Given the description of an element on the screen output the (x, y) to click on. 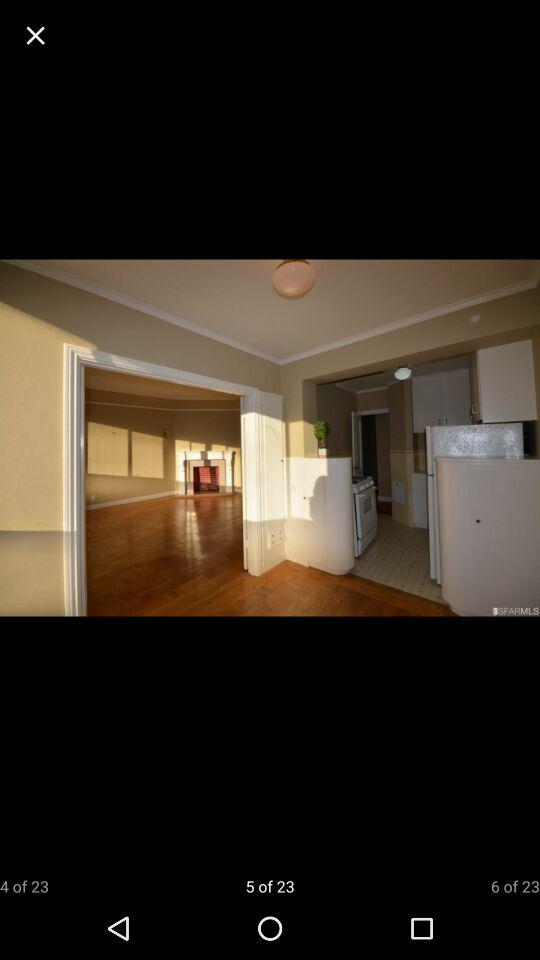
close this pict ure (35, 35)
